Given the description of an element on the screen output the (x, y) to click on. 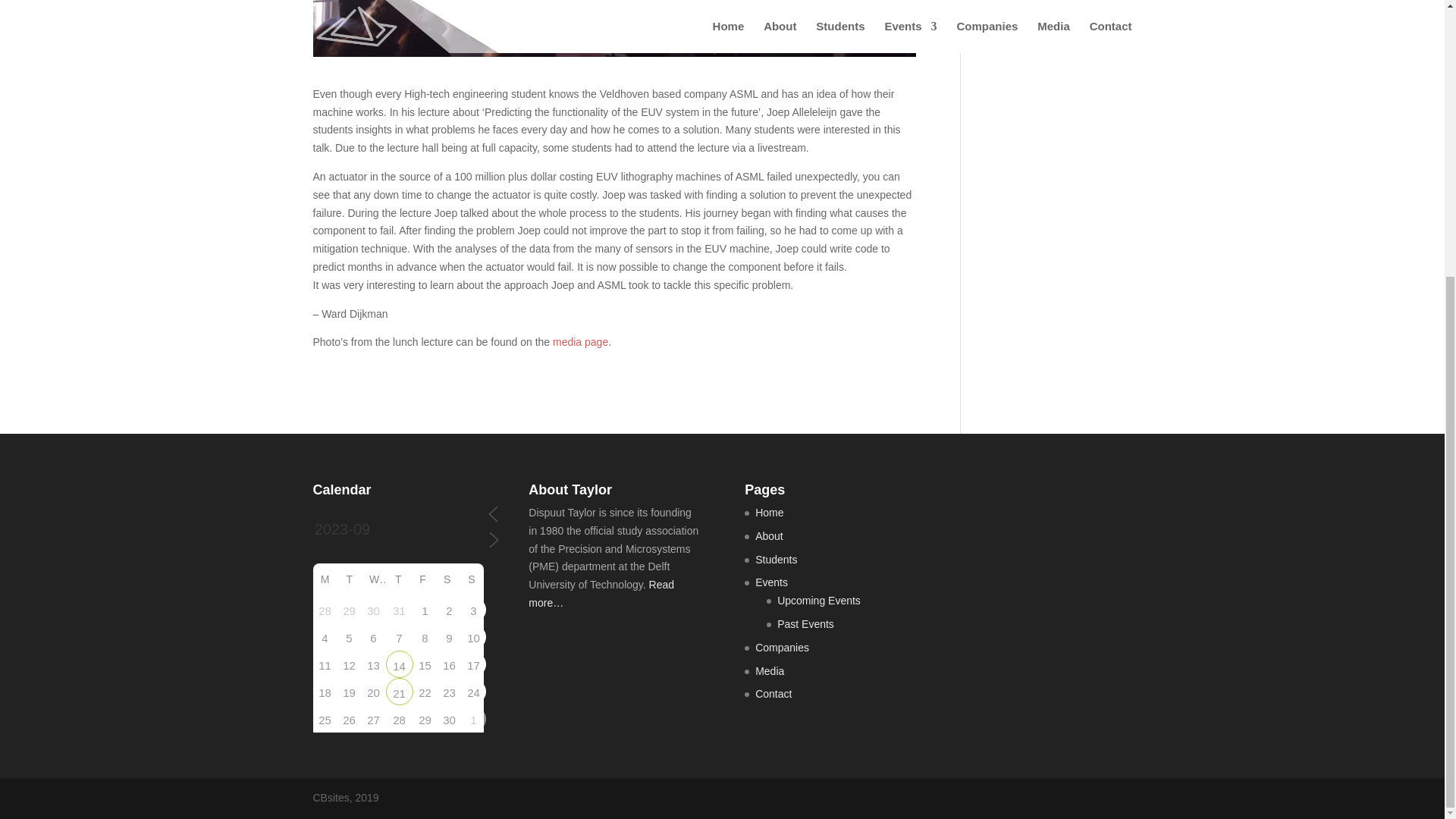
Settels Savenije Company Visit (398, 691)
Lunchlecture Prodrive (398, 663)
media page (580, 341)
2023-09 (398, 529)
